Given the description of an element on the screen output the (x, y) to click on. 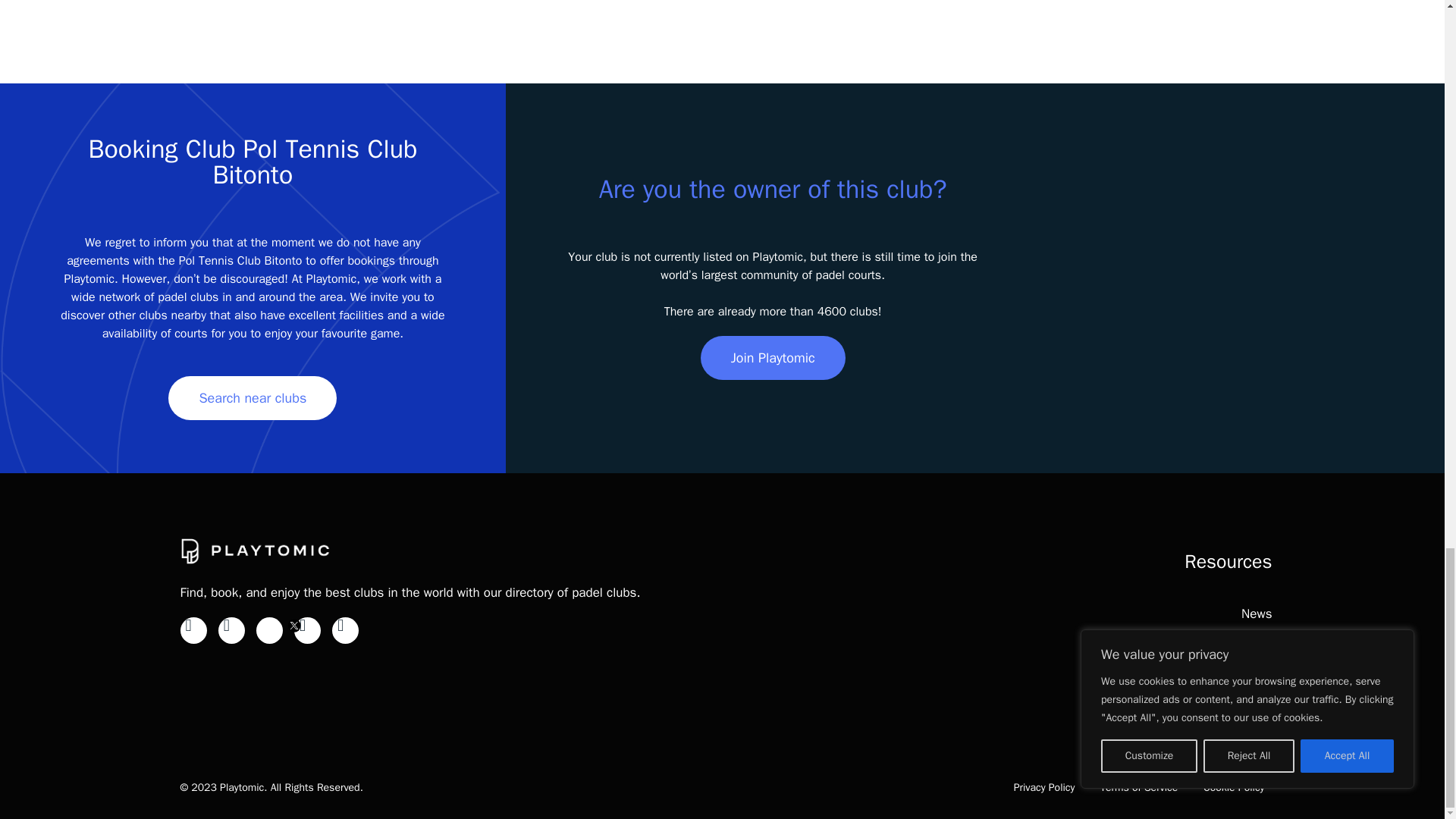
Join Playtomic (772, 357)
News (1256, 613)
Search near clubs (252, 397)
